Given the description of an element on the screen output the (x, y) to click on. 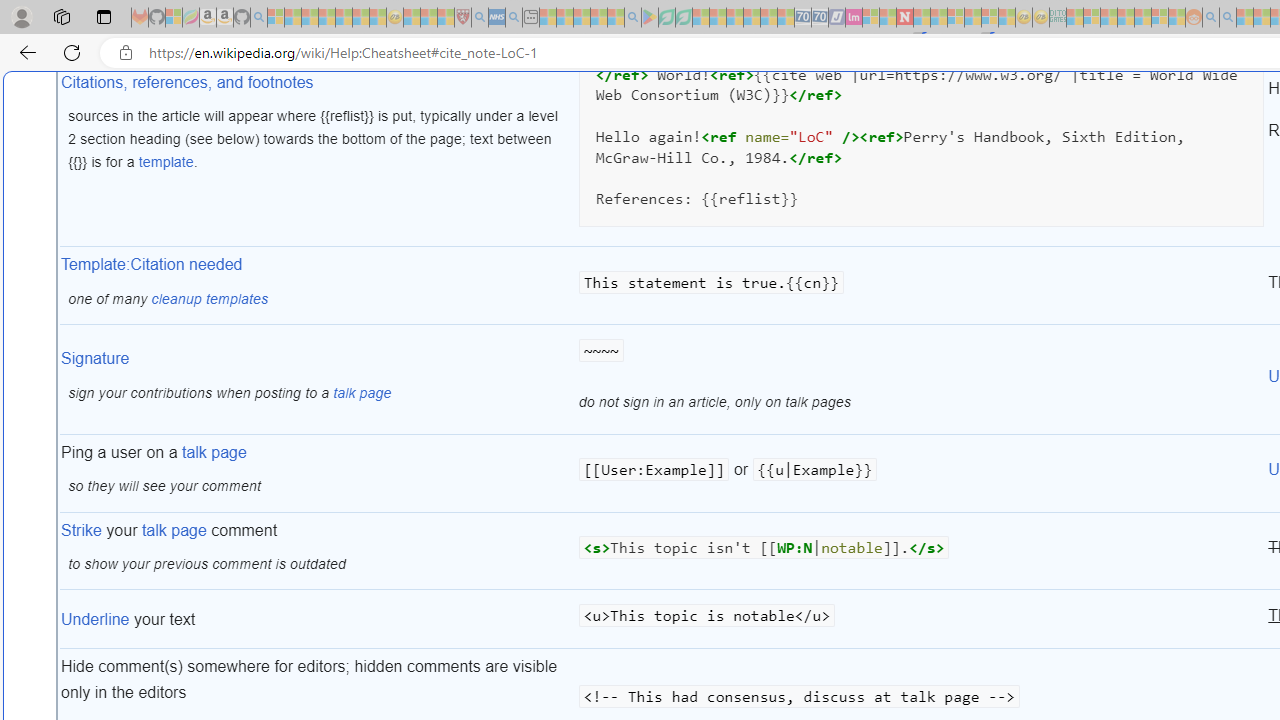
Underline (95, 620)
Template:Citation needed one of many cleanup templates (318, 287)
Signature (95, 358)
